Given the description of an element on the screen output the (x, y) to click on. 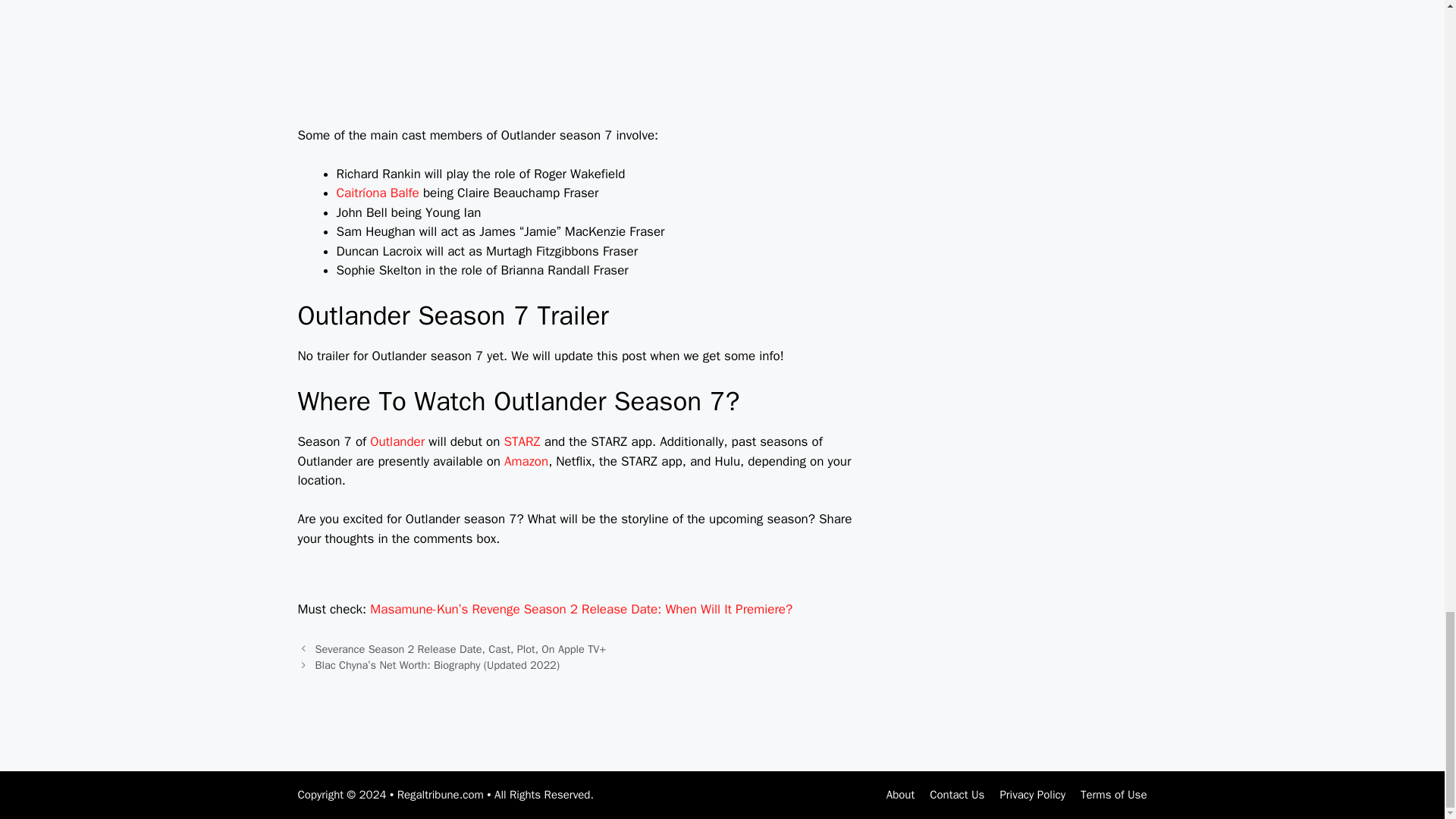
About (900, 794)
Outlander (397, 441)
STARZ (521, 441)
Contact Us (957, 794)
Amazon (525, 461)
